Given the description of an element on the screen output the (x, y) to click on. 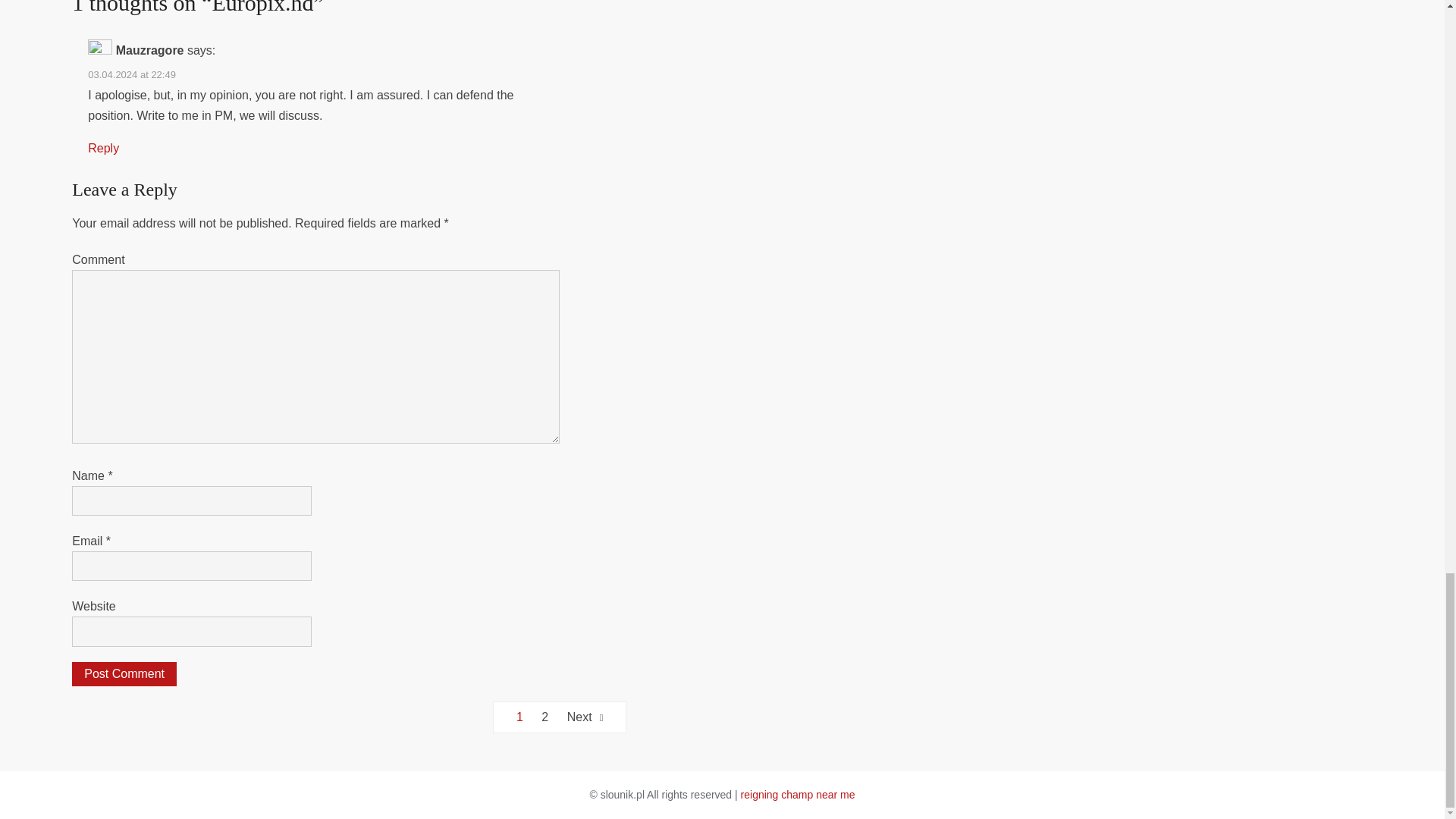
Reply (103, 147)
reigning champ near me (798, 794)
03.04.2024 at 22:49 (131, 74)
Post Comment (123, 673)
Post Comment (123, 673)
2 (545, 716)
Next (585, 716)
